Given the description of an element on the screen output the (x, y) to click on. 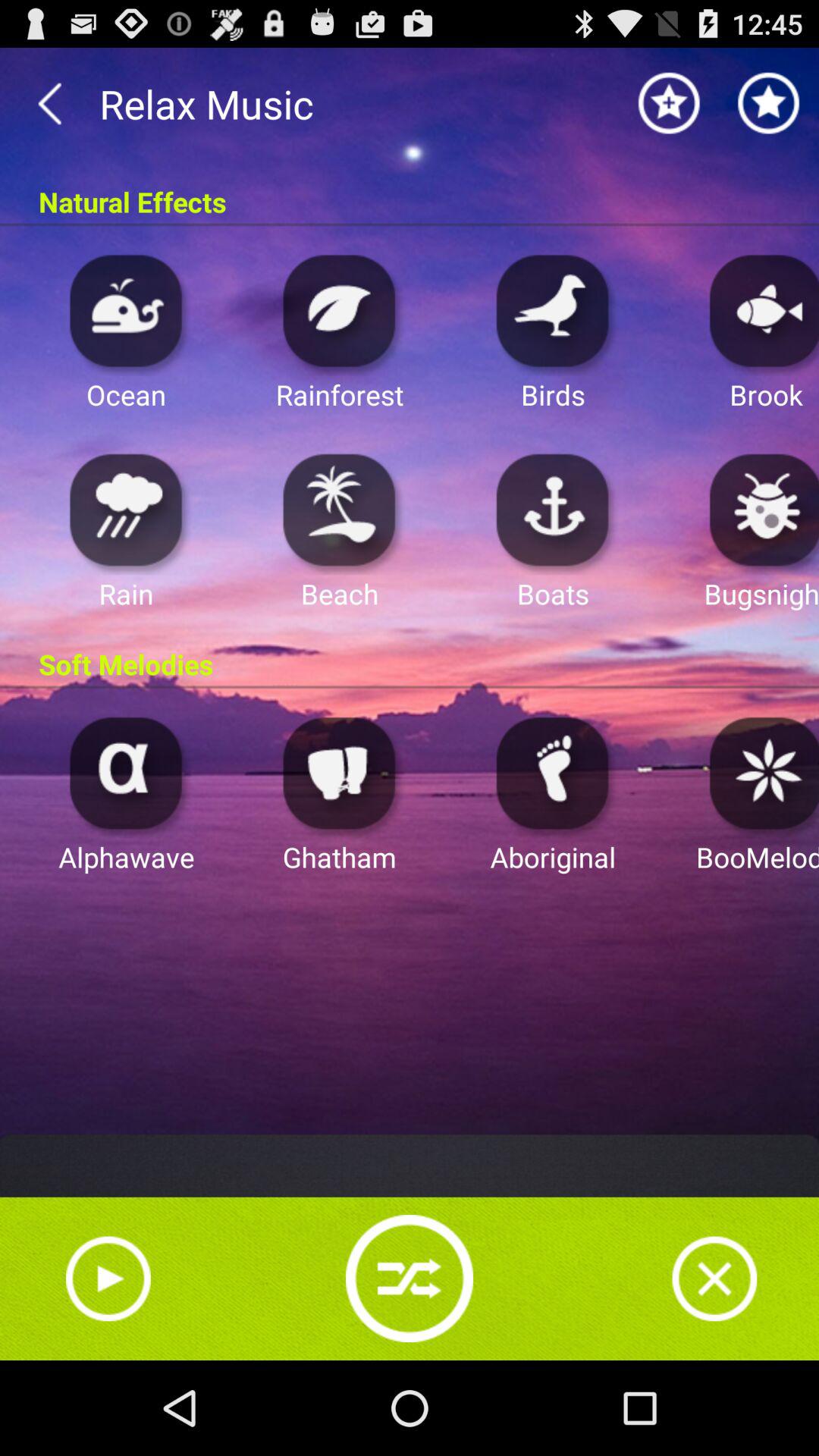
tranquilidad para tus oidos (552, 309)
